Given the description of an element on the screen output the (x, y) to click on. 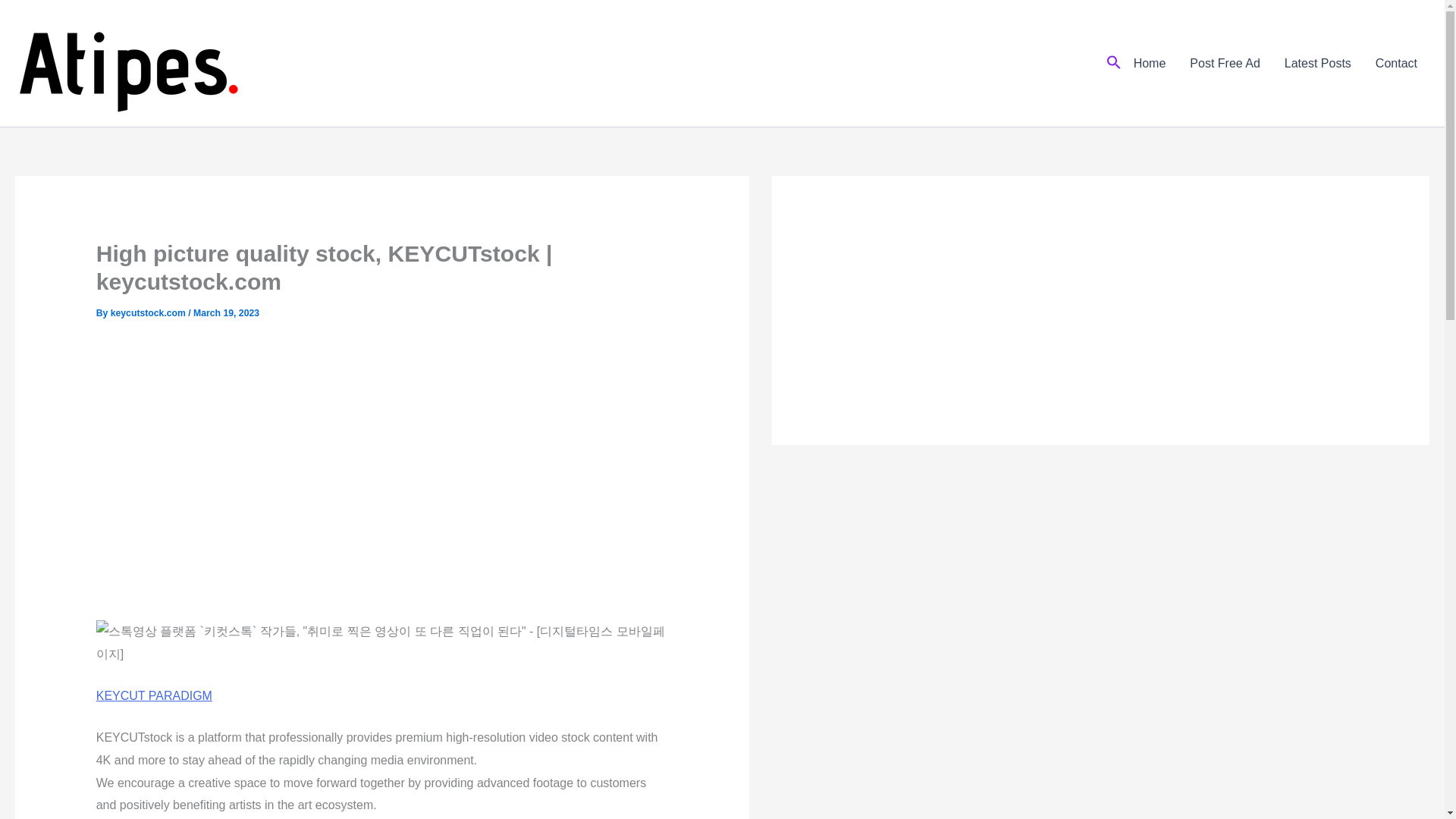
Advertisement (1041, 305)
KEYCUT PARADIGM (154, 695)
Advertisement (382, 472)
Home (1149, 63)
Post Free Ad (1224, 63)
Latest Posts (1317, 63)
keycutstock.com (149, 312)
Contact (1395, 63)
View all posts by keycutstock.com (149, 312)
